Given the description of an element on the screen output the (x, y) to click on. 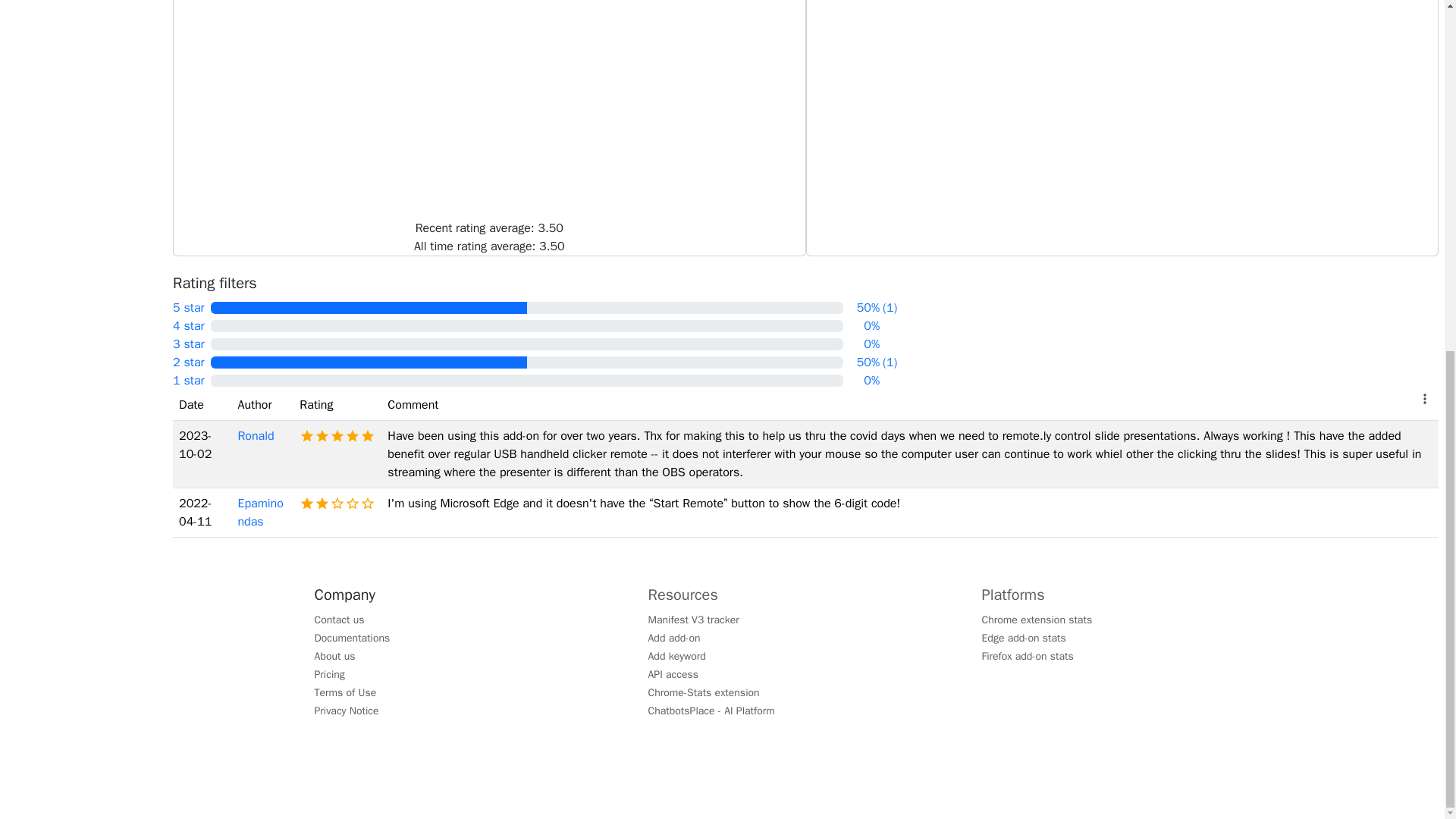
Documentations (352, 637)
Epaminondas (259, 512)
Pricing (329, 673)
Contact us (339, 619)
About us (334, 655)
Terms of Use (345, 692)
Ronald (255, 435)
Chrome-Stats API Access (672, 673)
